Given the description of an element on the screen output the (x, y) to click on. 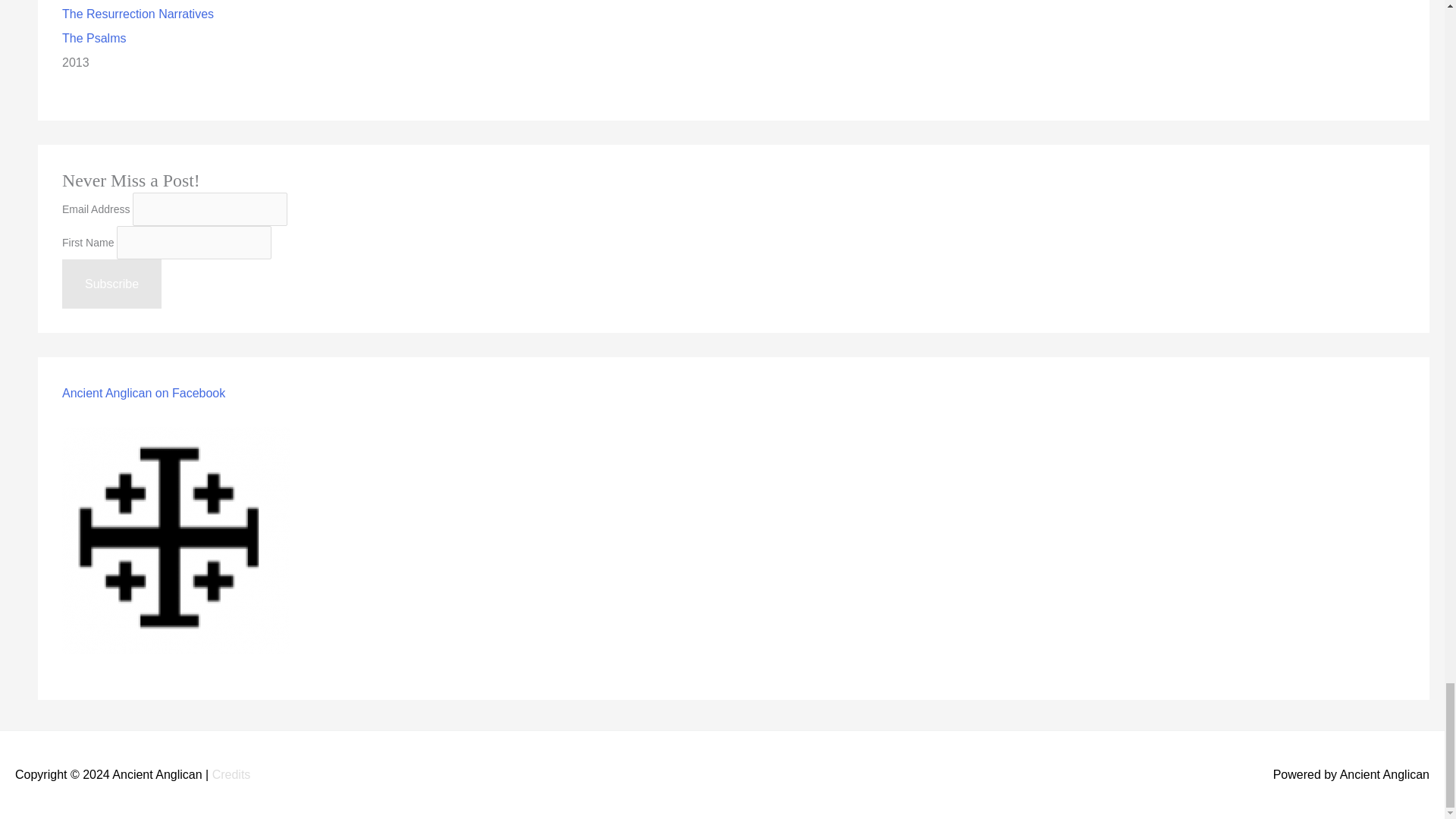
Subscribe (111, 284)
